Given the description of an element on the screen output the (x, y) to click on. 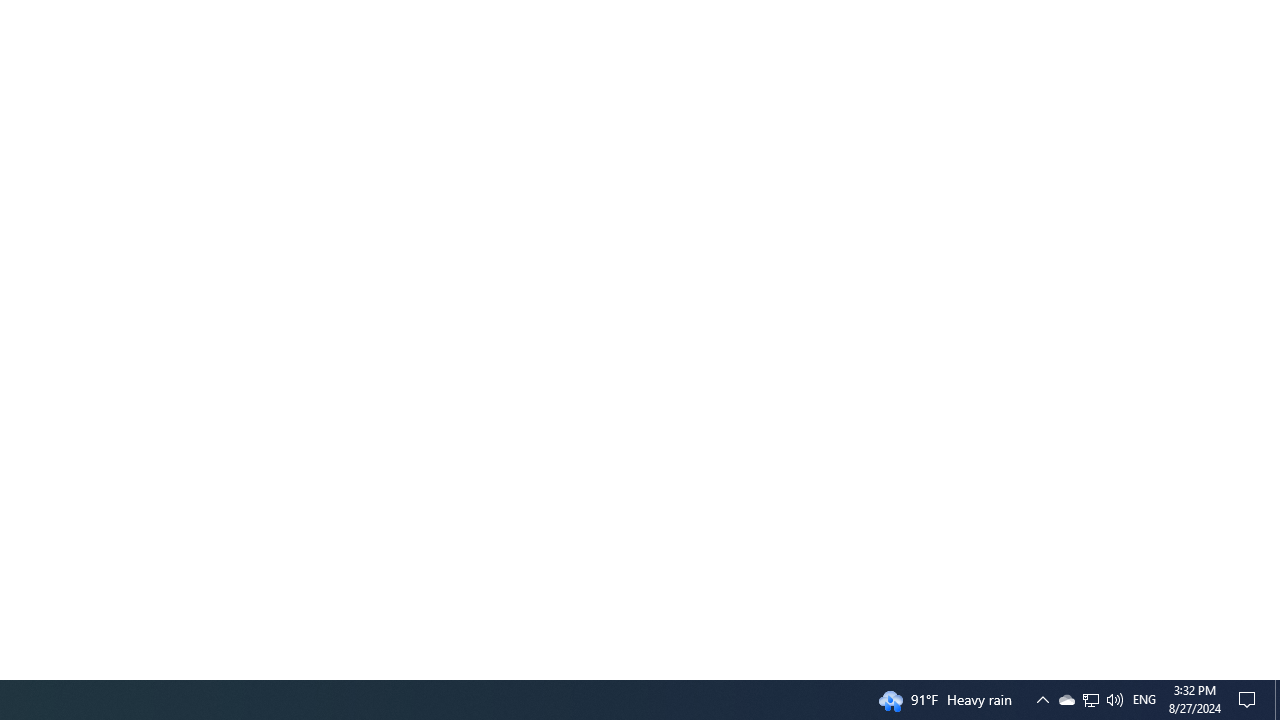
User Promoted Notification Area (1090, 699)
Tray Input Indicator - English (United States) (1144, 699)
Q2790: 100% (1114, 699)
Notification Chevron (1091, 699)
Show desktop (1042, 699)
Action Center, No new notifications (1277, 699)
